Given the description of an element on the screen output the (x, y) to click on. 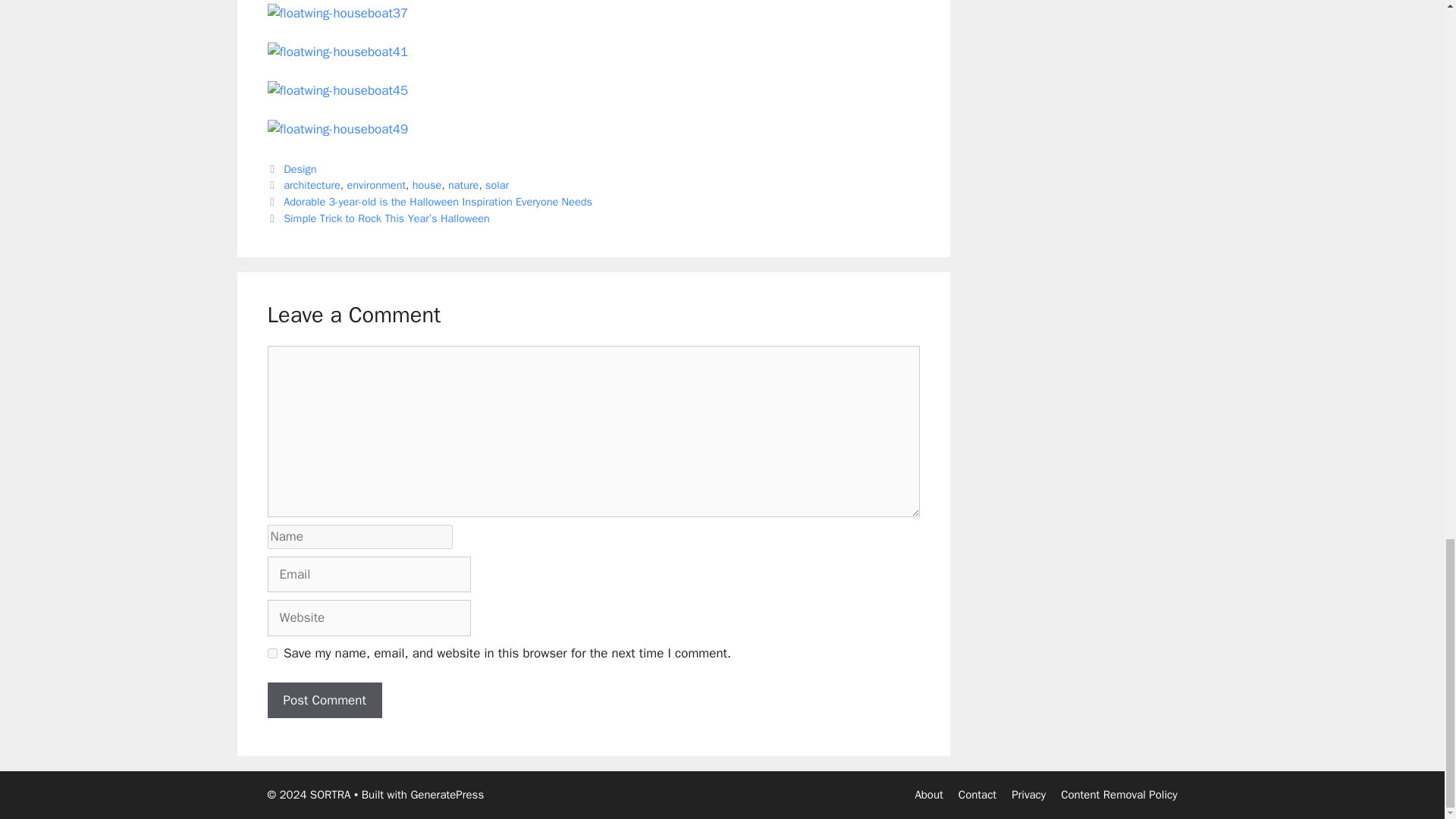
nature (463, 184)
environment (376, 184)
solar (496, 184)
architecture (311, 184)
yes (271, 653)
Post Comment (323, 700)
Design (299, 169)
house (427, 184)
Post Comment (323, 700)
